Given the description of an element on the screen output the (x, y) to click on. 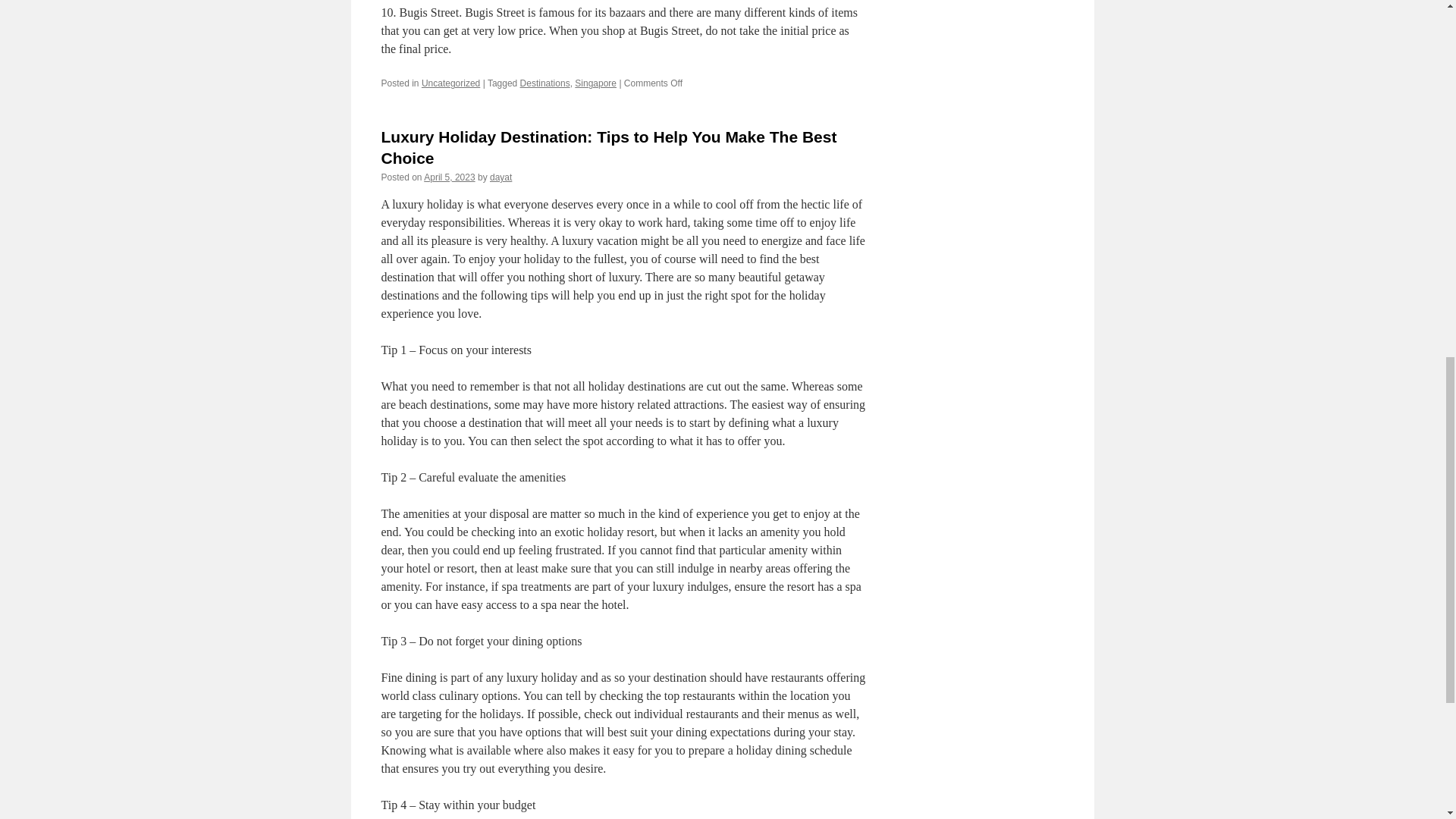
2:38 pm (448, 176)
April 5, 2023 (448, 176)
View all posts in Uncategorized (451, 82)
View all posts by dayat (500, 176)
Singapore (595, 82)
Uncategorized (451, 82)
Destinations (544, 82)
dayat (500, 176)
